Given the description of an element on the screen output the (x, y) to click on. 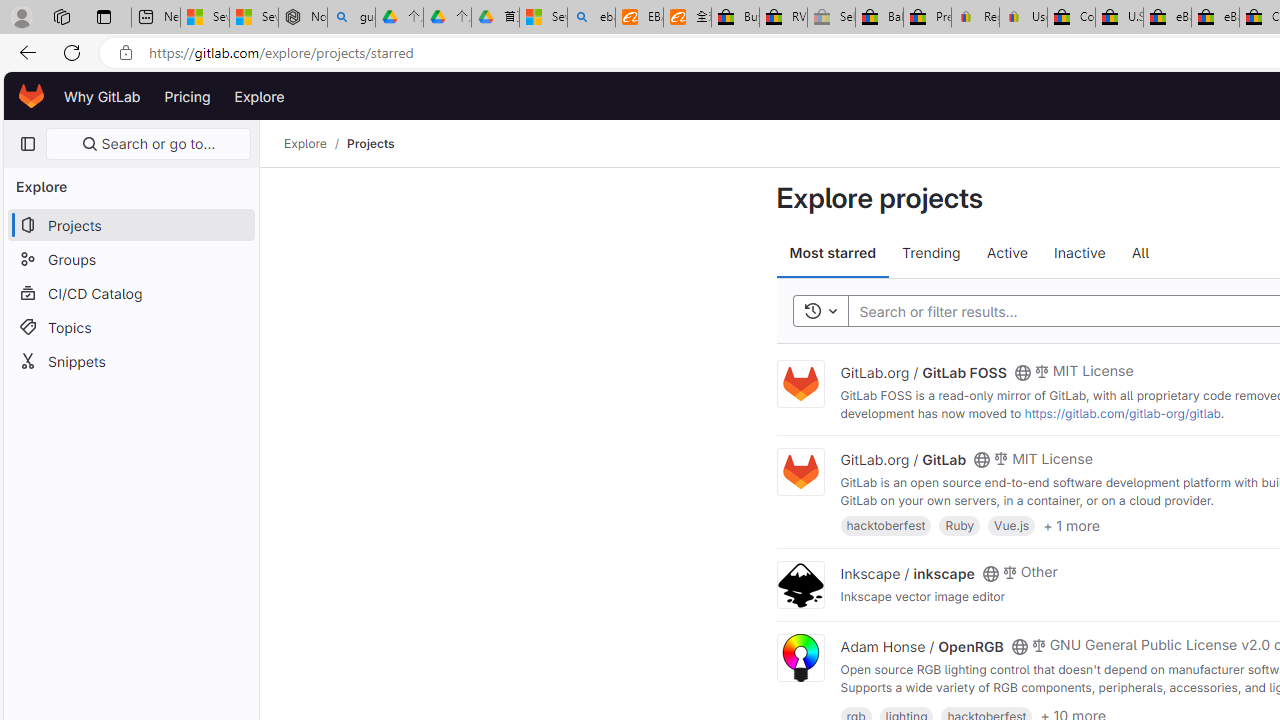
Groups (130, 259)
guge yunpan - Search (351, 17)
Ruby (959, 524)
RV, Trailer & Camper Steps & Ladders for sale | eBay (783, 17)
Class: s14 gl-mr-2 (1037, 644)
Press Room - eBay Inc. (927, 17)
Topics (130, 326)
Class: s16 (1019, 646)
Groups (130, 259)
All (1140, 253)
Explore (259, 95)
Pricing (187, 95)
+ 1 more (1071, 524)
